Given the description of an element on the screen output the (x, y) to click on. 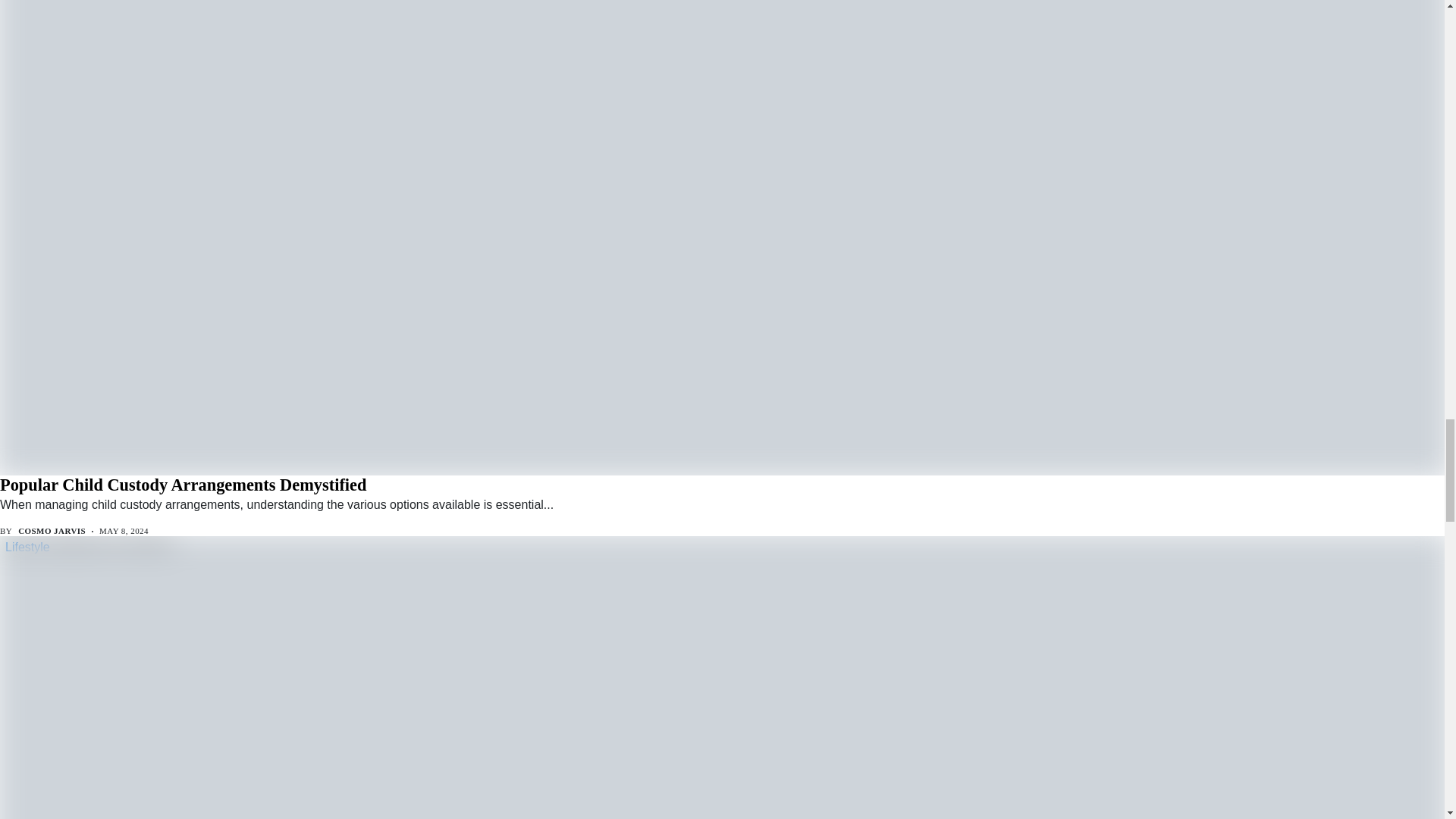
Posts by Cosmo Jarvis (51, 531)
